Given the description of an element on the screen output the (x, y) to click on. 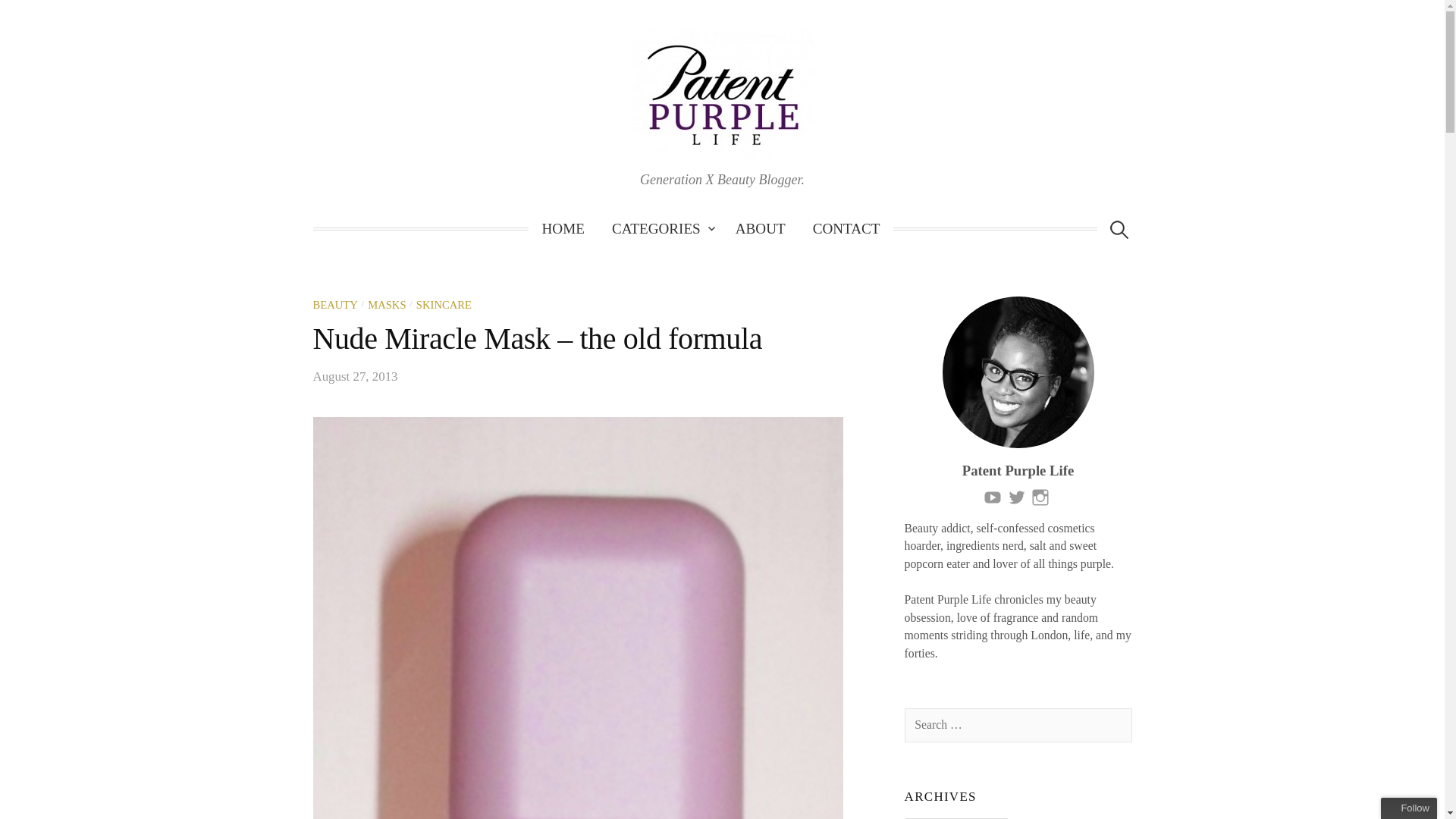
HOME (563, 228)
CATEGORIES (660, 228)
